Given the description of an element on the screen output the (x, y) to click on. 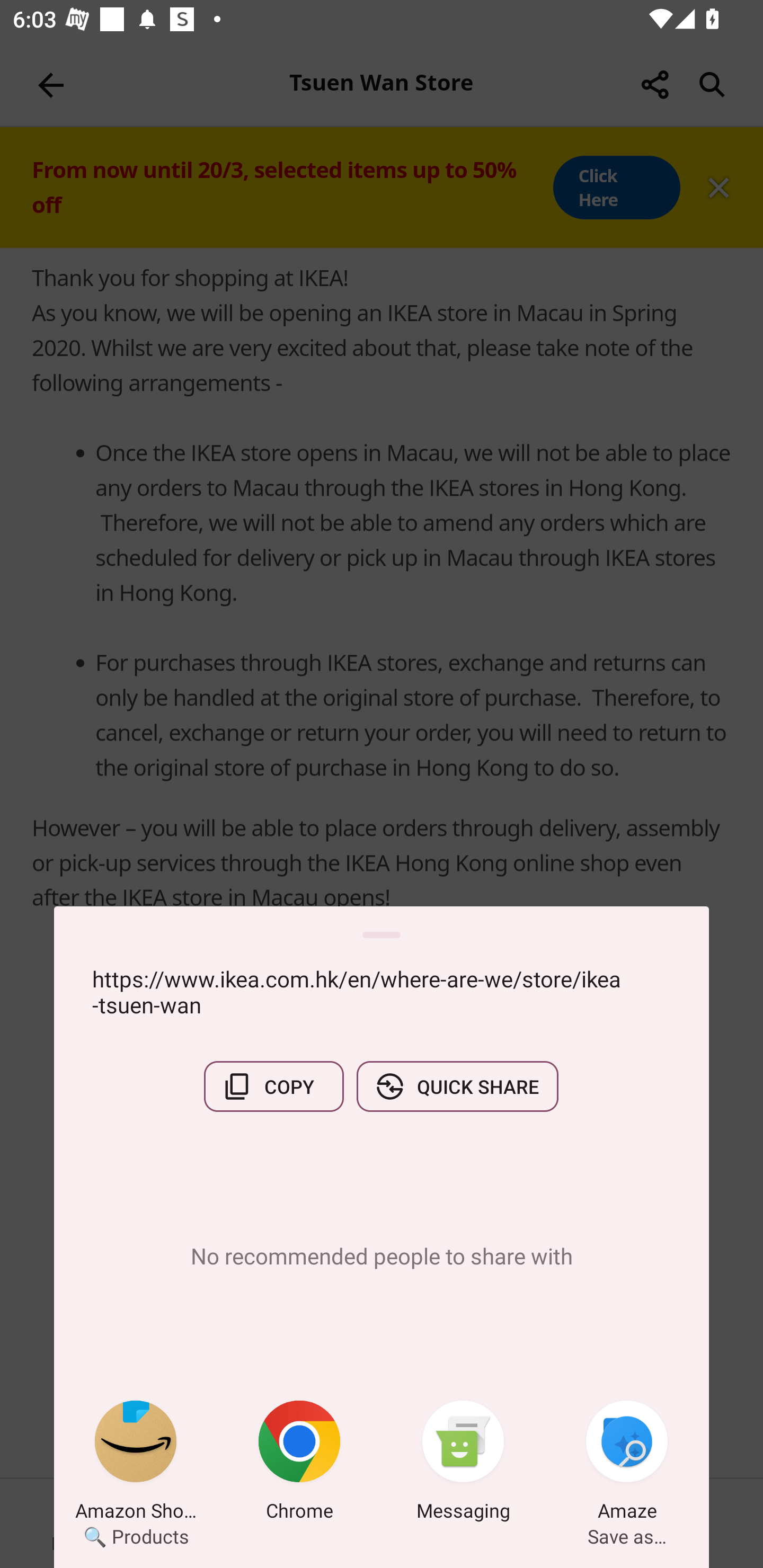
COPY (273, 1086)
QUICK SHARE (457, 1086)
Amazon Shopping 🔍 Products (135, 1463)
Chrome (299, 1463)
Messaging (463, 1463)
Amaze Save as… (626, 1463)
